Given the description of an element on the screen output the (x, y) to click on. 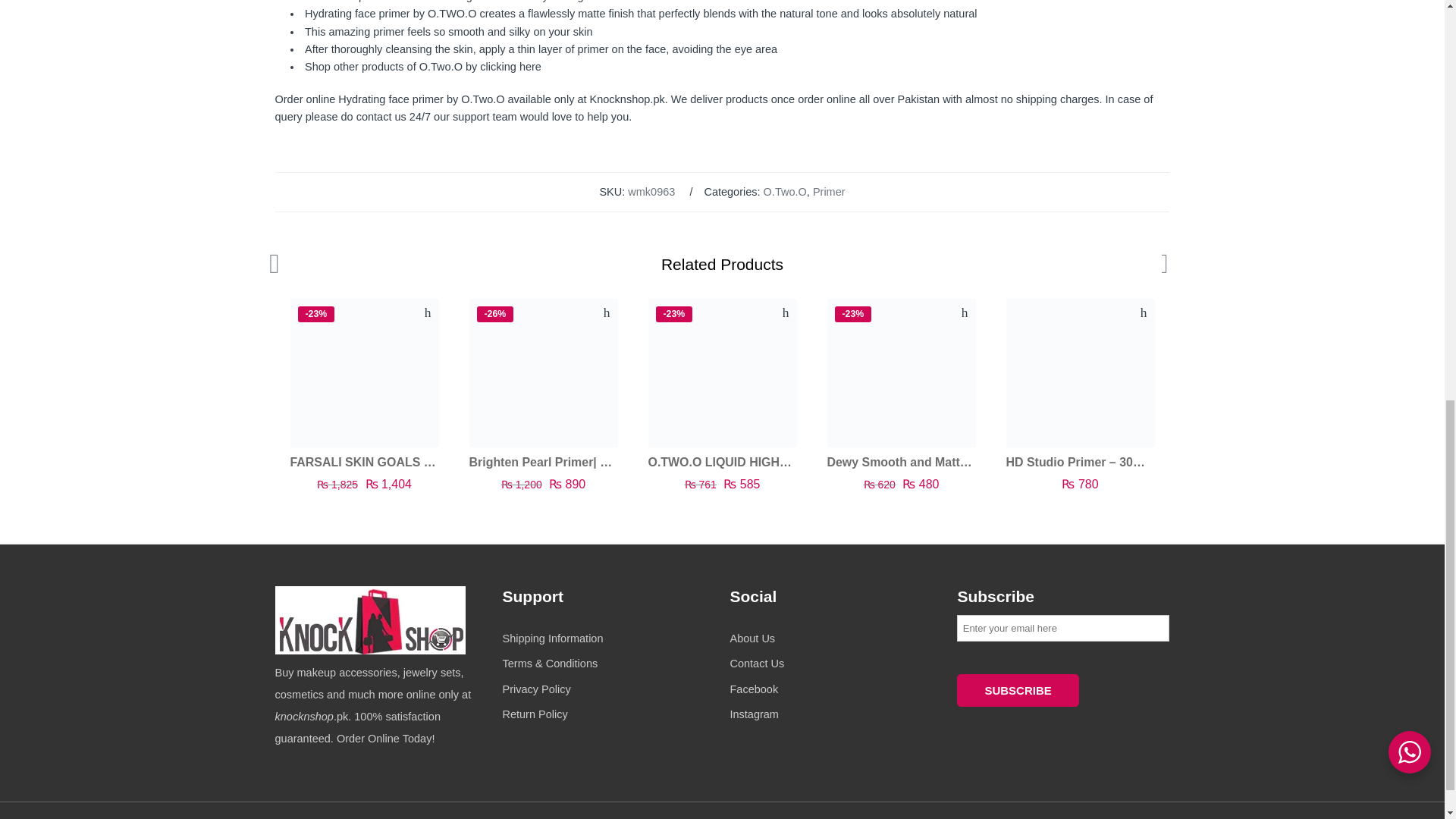
SUBSCRIBE (1017, 690)
